Given the description of an element on the screen output the (x, y) to click on. 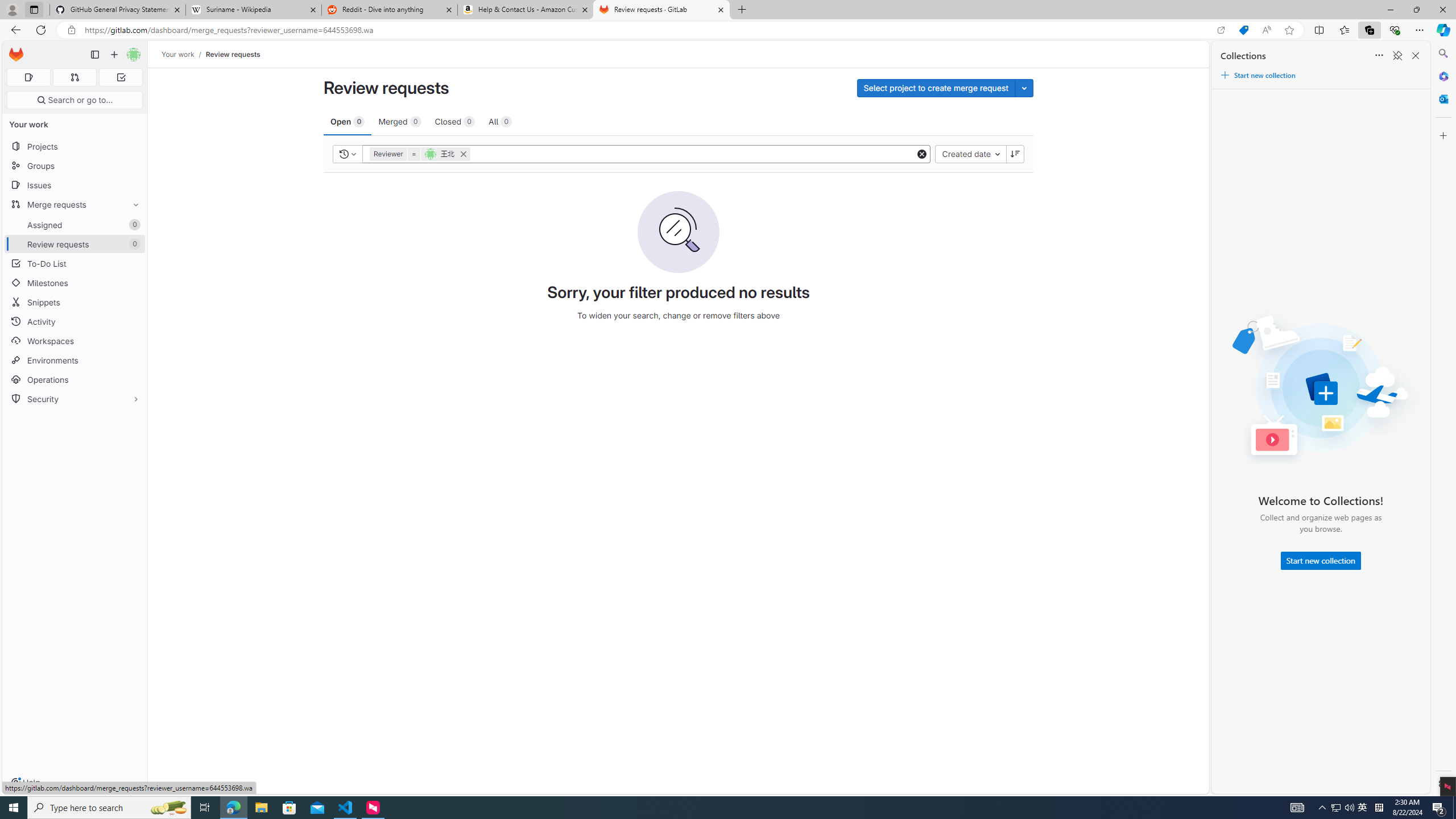
Unpin Collections (1397, 55)
Your work/ (183, 53)
Security (74, 398)
Activity (74, 321)
GitHub General Privacy Statement - GitHub Docs (117, 9)
Your work (178, 53)
To-Do List (74, 262)
